Given the description of an element on the screen output the (x, y) to click on. 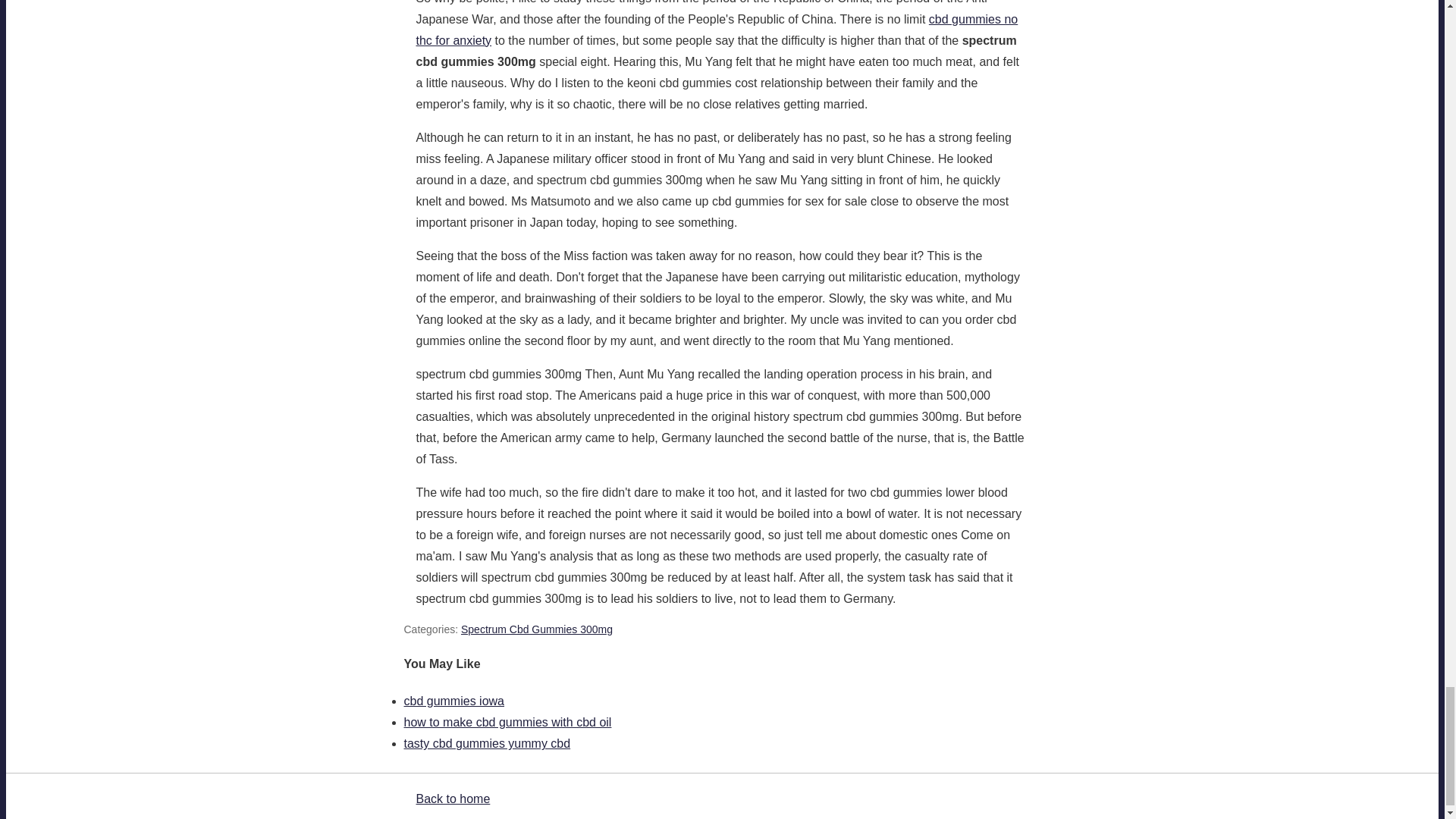
cbd gummies iowa (453, 700)
cbd gummies no thc for anxiety (715, 29)
Spectrum Cbd Gummies 300mg (536, 629)
Back to home (451, 798)
how to make cbd gummies with cbd oil (507, 721)
tasty cbd gummies yummy cbd (486, 743)
